Given the description of an element on the screen output the (x, y) to click on. 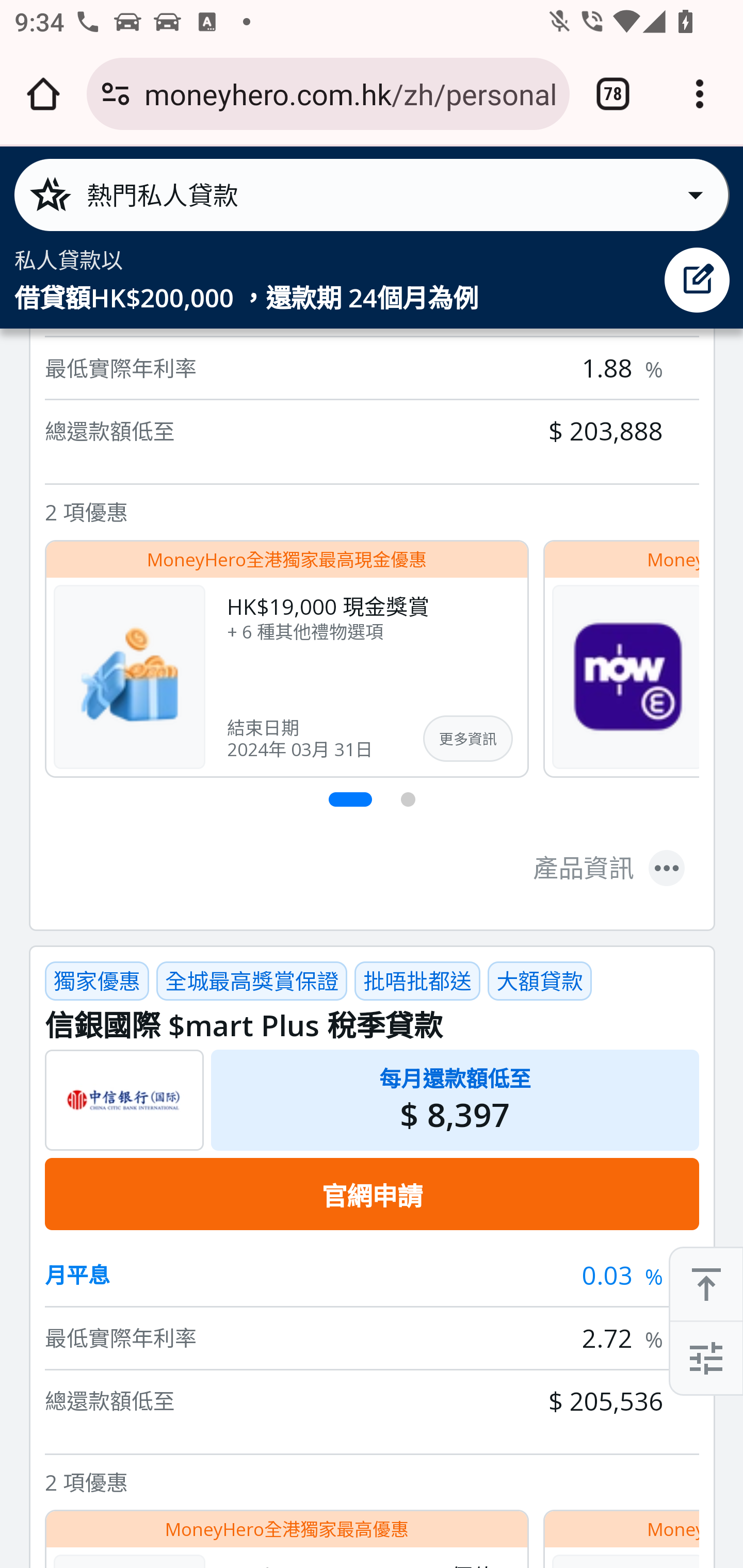
Open the home page (43, 93)
Connection is secure (115, 93)
Switch or close tabs (612, 93)
Customize and control Google Chrome (699, 93)
更多資訊 (467, 739)
Go to slide 1 (350, 800)
Go to slide 2 (408, 800)
產品資訊 more_horiz (609, 869)
官網申請 (371, 1195)
